Given the description of an element on the screen output the (x, y) to click on. 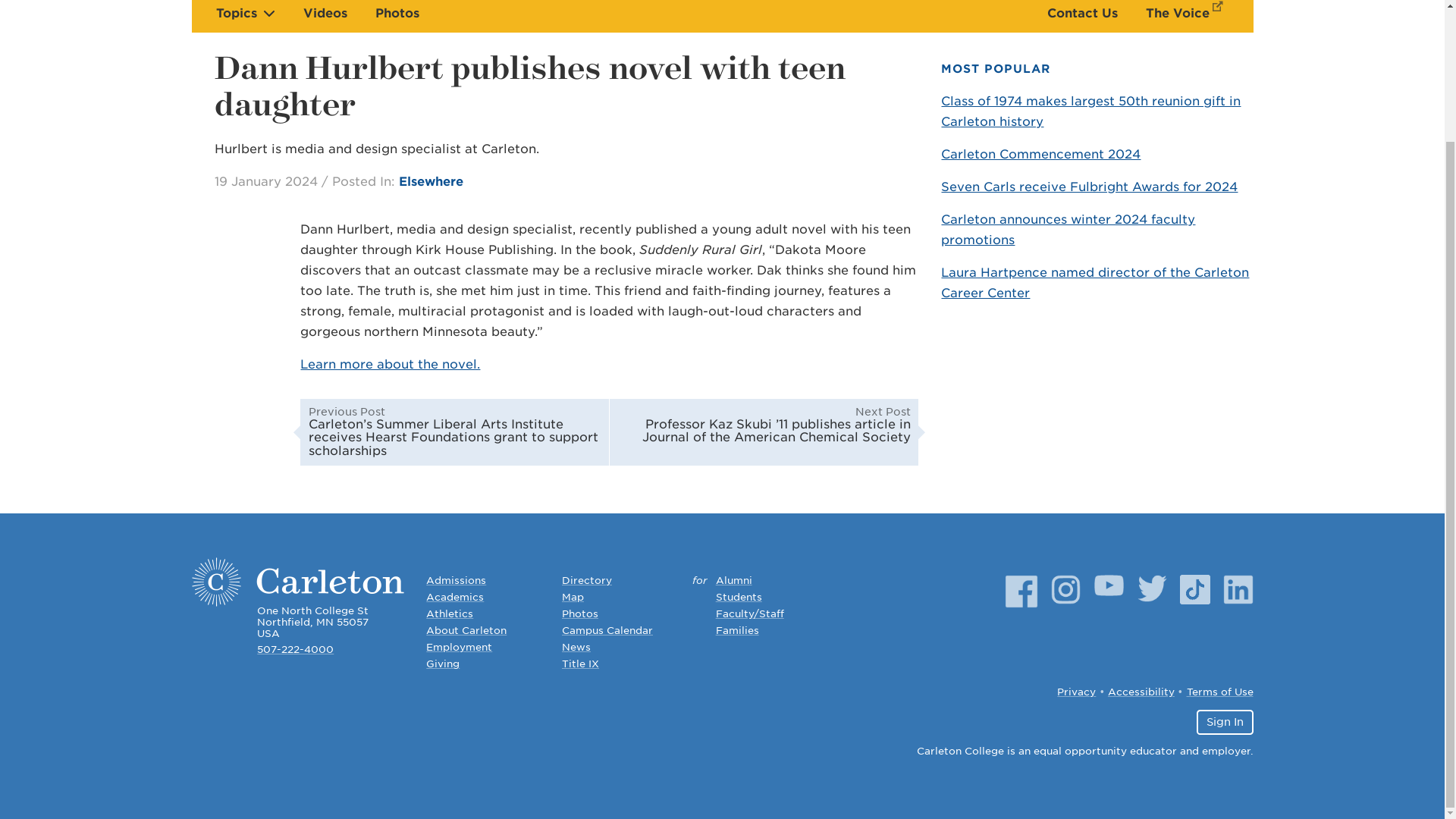
The Voice (1186, 12)
Photos (396, 12)
Learn more about the novel. (389, 364)
Contact Us (1082, 12)
Videos (324, 12)
Elsewhere (430, 181)
Topics icon-down-arrow Created with Sketch. (245, 12)
icon-down-arrow Created with Sketch. (269, 12)
